Given the description of an element on the screen output the (x, y) to click on. 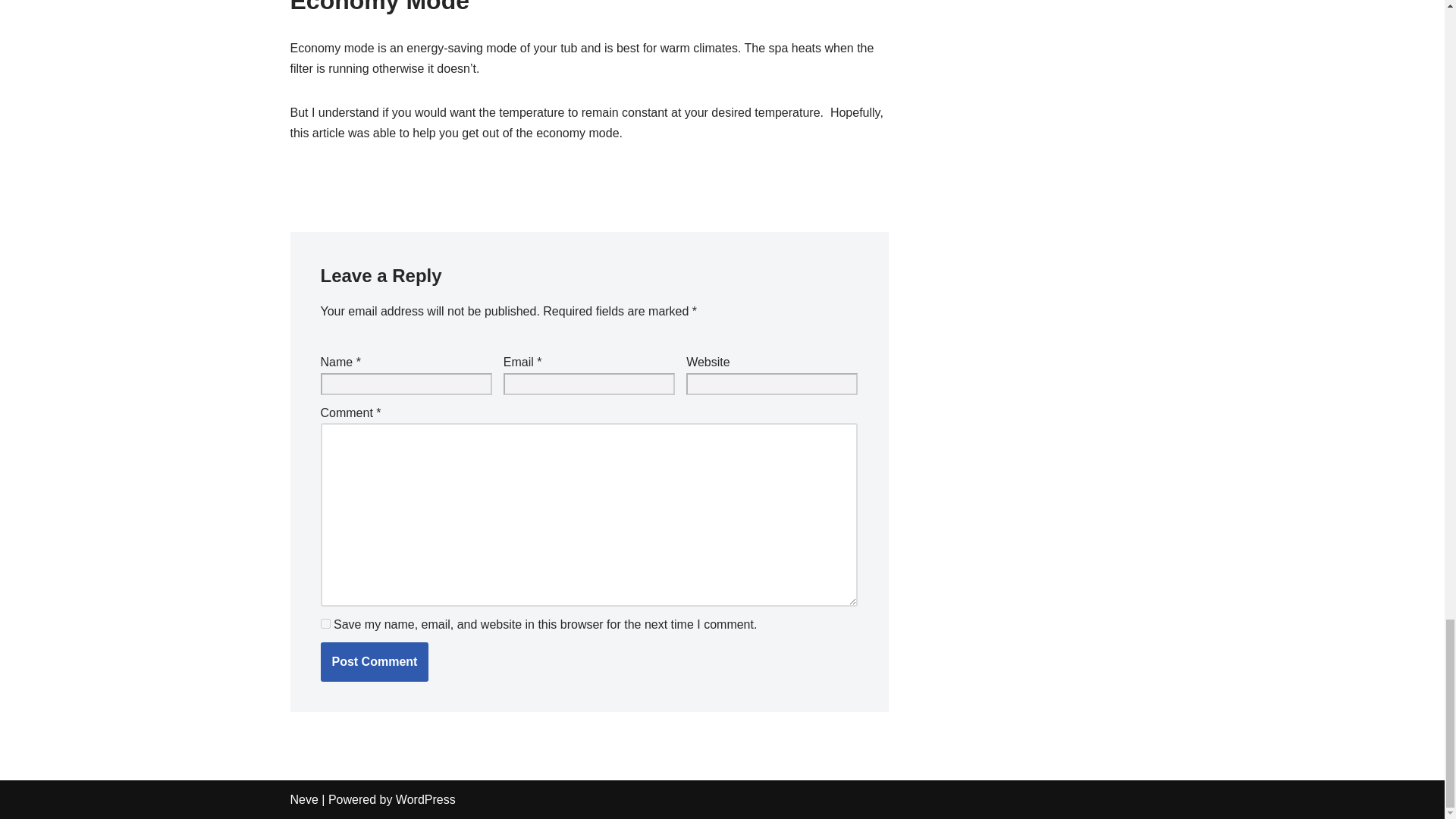
Neve (303, 799)
yes (325, 623)
Post Comment (374, 661)
Post Comment (374, 661)
WordPress (425, 799)
